Given the description of an element on the screen output the (x, y) to click on. 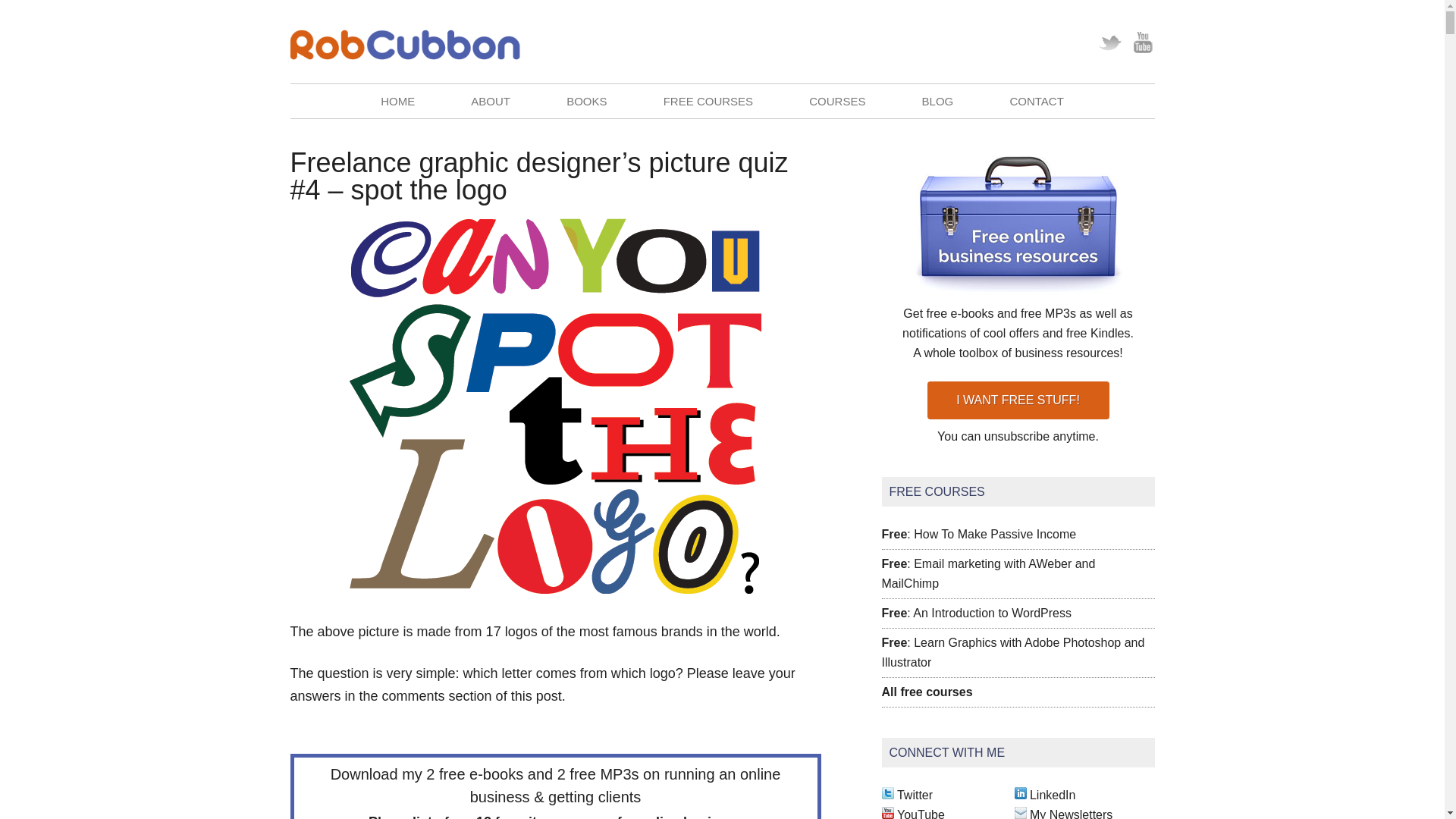
Connect with me at LinkedIn (1052, 794)
Follow me on Twitter (914, 794)
Twitter (1109, 41)
HOME (397, 100)
BLOG (937, 100)
BOOKS (586, 100)
YouTube channel (920, 813)
Twitter (1109, 41)
YouTube channel (886, 813)
YouTube (1142, 41)
COURSES (837, 100)
Connect with me at LinkedIn (1020, 794)
CONTACT (1035, 100)
YouTube (1142, 41)
